Given the description of an element on the screen output the (x, y) to click on. 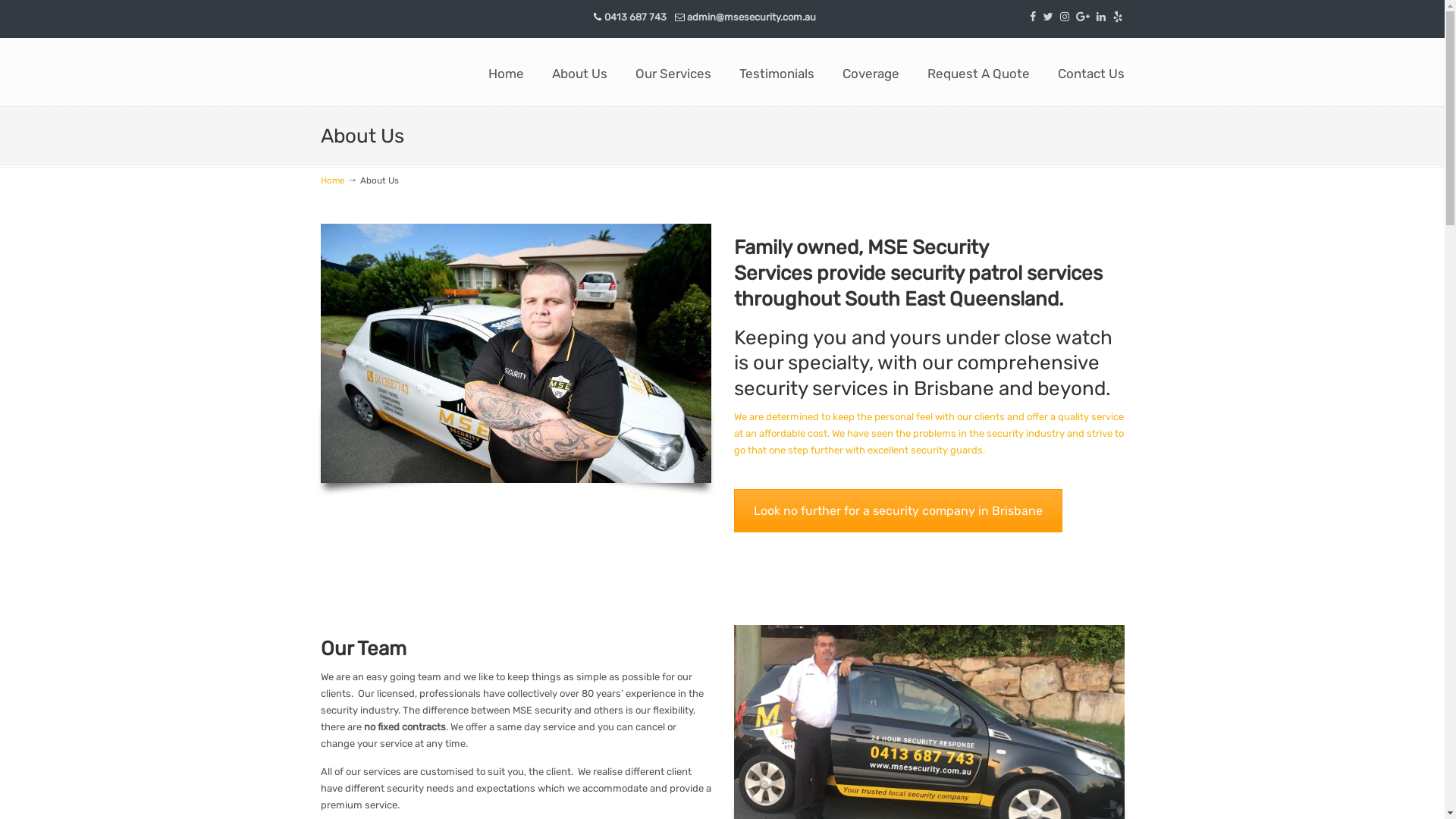
0413 687 743 Element type: text (635, 16)
LinkedIn Element type: hover (1100, 16)
Look no further for a security company in Brisbane Element type: text (898, 510)
Instagram Element type: hover (1064, 16)
Coverage Element type: text (869, 73)
About Us Element type: text (579, 73)
Yelp Element type: hover (1117, 16)
Google+ Element type: hover (1082, 16)
Twitter Element type: hover (1047, 16)
Request A Quote Element type: text (977, 73)
Facebook Element type: hover (1032, 16)
MSE Security Element type: text (361, 76)
admin@msesecurity.com.au Element type: text (751, 16)
Contact Us Element type: text (1090, 73)
Home Element type: text (506, 73)
Testimonials Element type: text (775, 73)
Home Element type: text (332, 180)
Our Services Element type: text (673, 73)
